Given the description of an element on the screen output the (x, y) to click on. 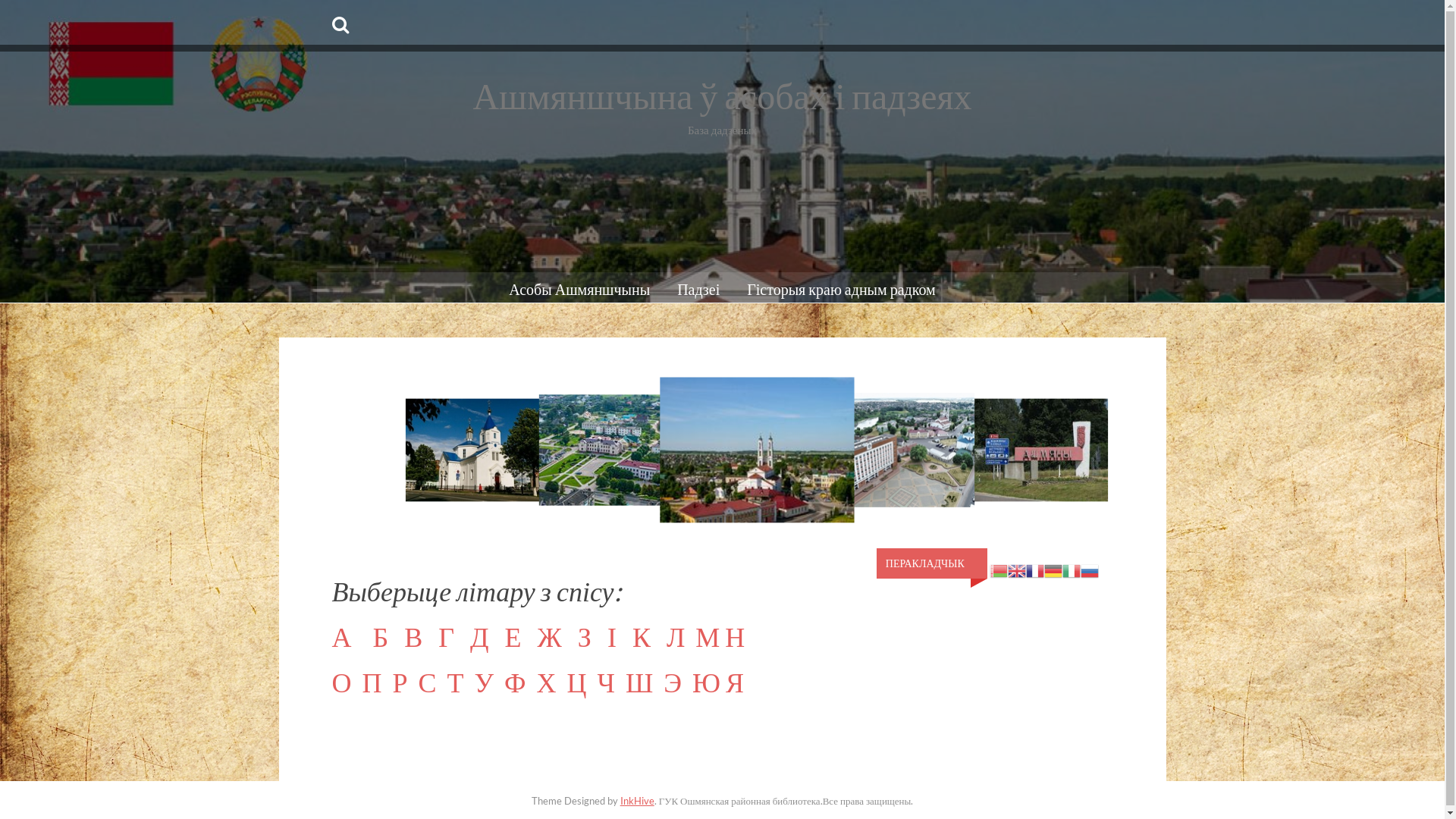
Skip to content Element type: text (0, 0)
Belarusian Element type: hover (998, 570)
French Element type: hover (1035, 570)
InkHive Element type: text (637, 800)
Russian Element type: hover (1089, 570)
Advertisement Element type: hover (722, 158)
German Element type: hover (1053, 570)
English Element type: hover (1016, 570)
Italian Element type: hover (1071, 570)
